Given the description of an element on the screen output the (x, y) to click on. 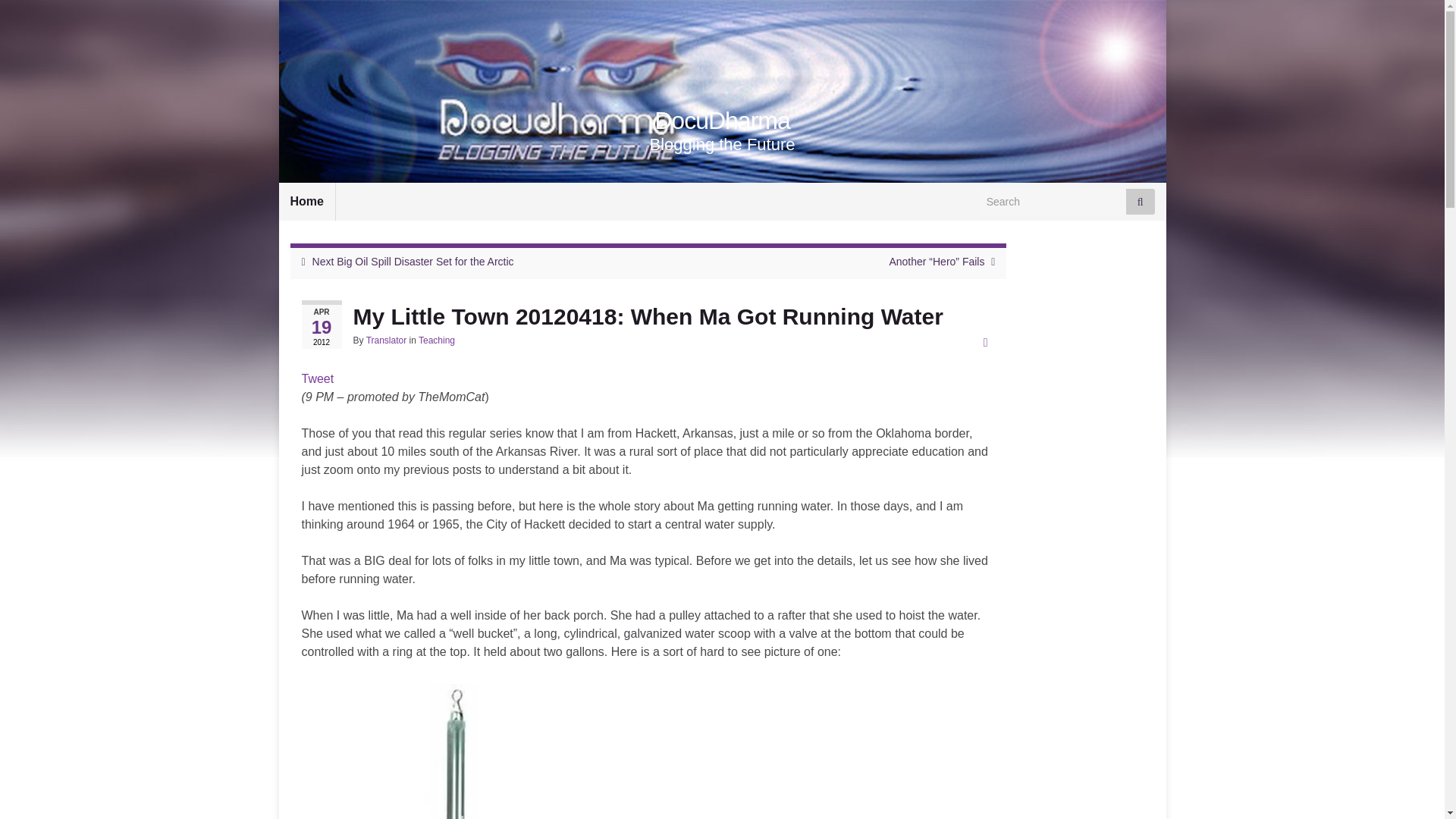
Translator (386, 339)
Home (306, 201)
Tweet (317, 378)
Go back to the front page (721, 120)
Next Big Oil Spill Disaster Set for the Arctic (413, 261)
Teaching (436, 339)
DocuDharma (721, 120)
